Given the description of an element on the screen output the (x, y) to click on. 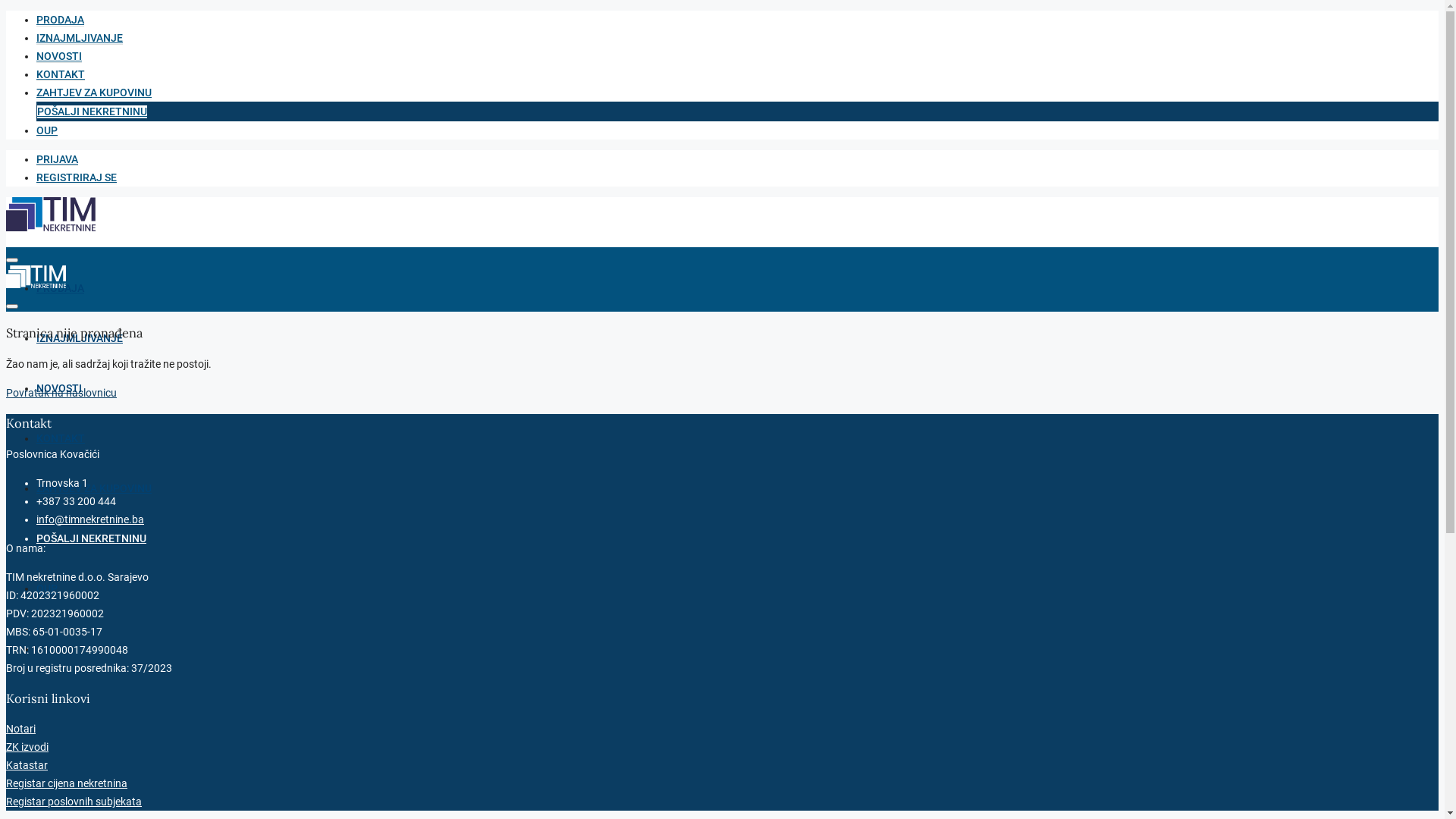
OUP Element type: text (46, 130)
REGISTRIRAJ SE Element type: text (76, 177)
PRODAJA Element type: text (60, 19)
Registar poslovnih subjekata Element type: text (73, 801)
IZNAJMLJIVANJE Element type: text (79, 338)
PRODAJA Element type: text (60, 288)
ZK izvodi Element type: text (27, 746)
OUP Element type: text (46, 588)
KONTAKT Element type: text (60, 74)
ZAHTJEV ZA KUPOVINU Element type: text (93, 488)
ZAHTJEV ZA KUPOVINU Element type: text (93, 92)
IZNAJMLJIVANJE Element type: text (79, 37)
NOVOSTI Element type: text (58, 388)
KONTAKT Element type: text (60, 438)
PRIJAVA Element type: text (57, 159)
Notari Element type: text (20, 728)
Katastar Element type: text (26, 765)
Povratak na naslovnicu Element type: text (61, 392)
NOVOSTI Element type: text (58, 56)
Registar cijena nekretnina Element type: text (66, 783)
info@timnekretnine.ba Element type: text (90, 518)
